Given the description of an element on the screen output the (x, y) to click on. 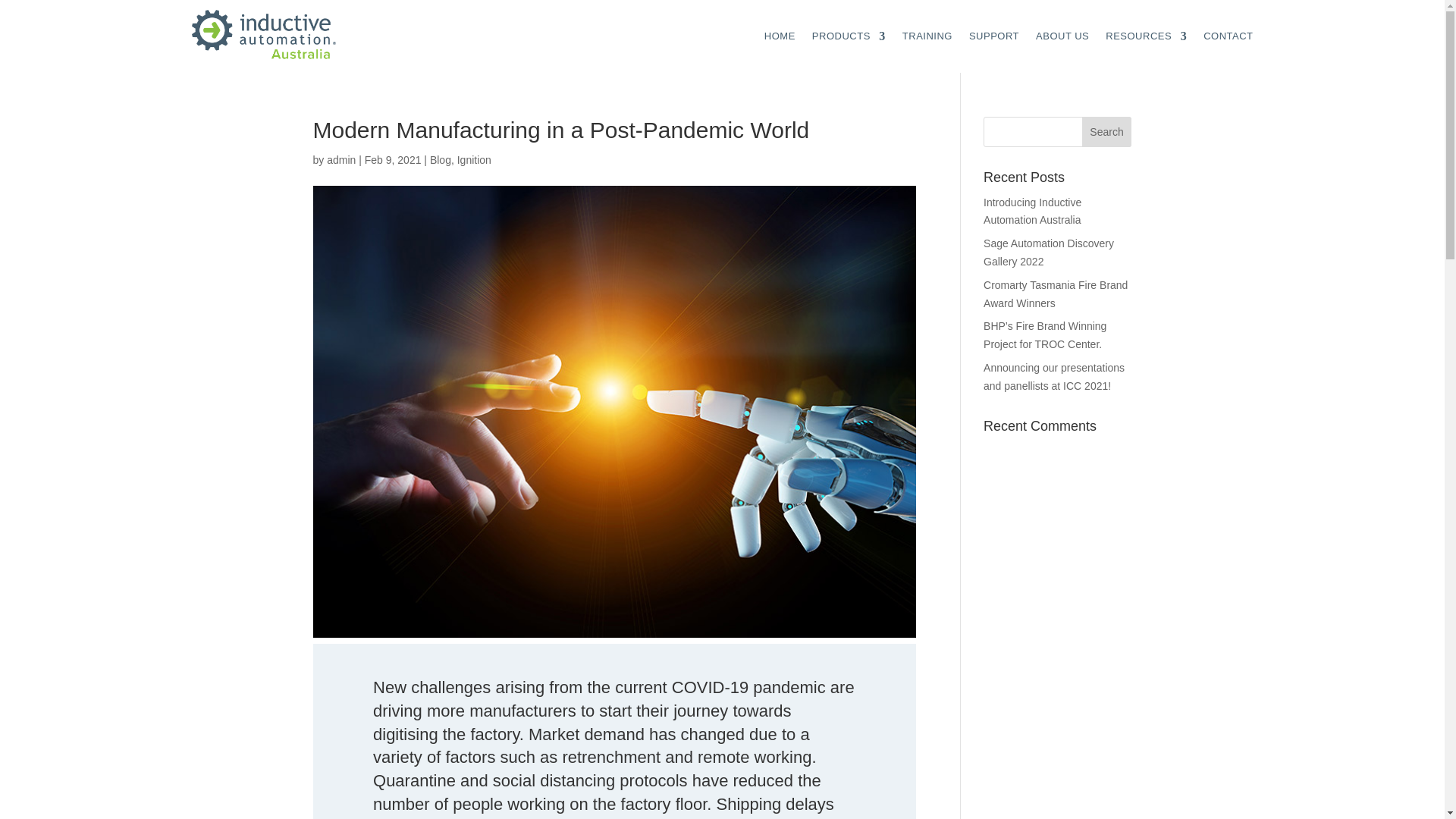
Introducing Inductive Automation Australia (1032, 211)
Sage Automation Discovery Gallery 2022 (1048, 252)
ABOUT US (1062, 36)
Search (1106, 132)
RESOURCES (1145, 36)
PRODUCTS (848, 36)
Cromarty Tasmania Fire Brand Award Winners (1055, 294)
Announcing our presentations and panellists at ICC 2021! (1054, 376)
Posts by admin (340, 159)
Blog (440, 159)
